Given the description of an element on the screen output the (x, y) to click on. 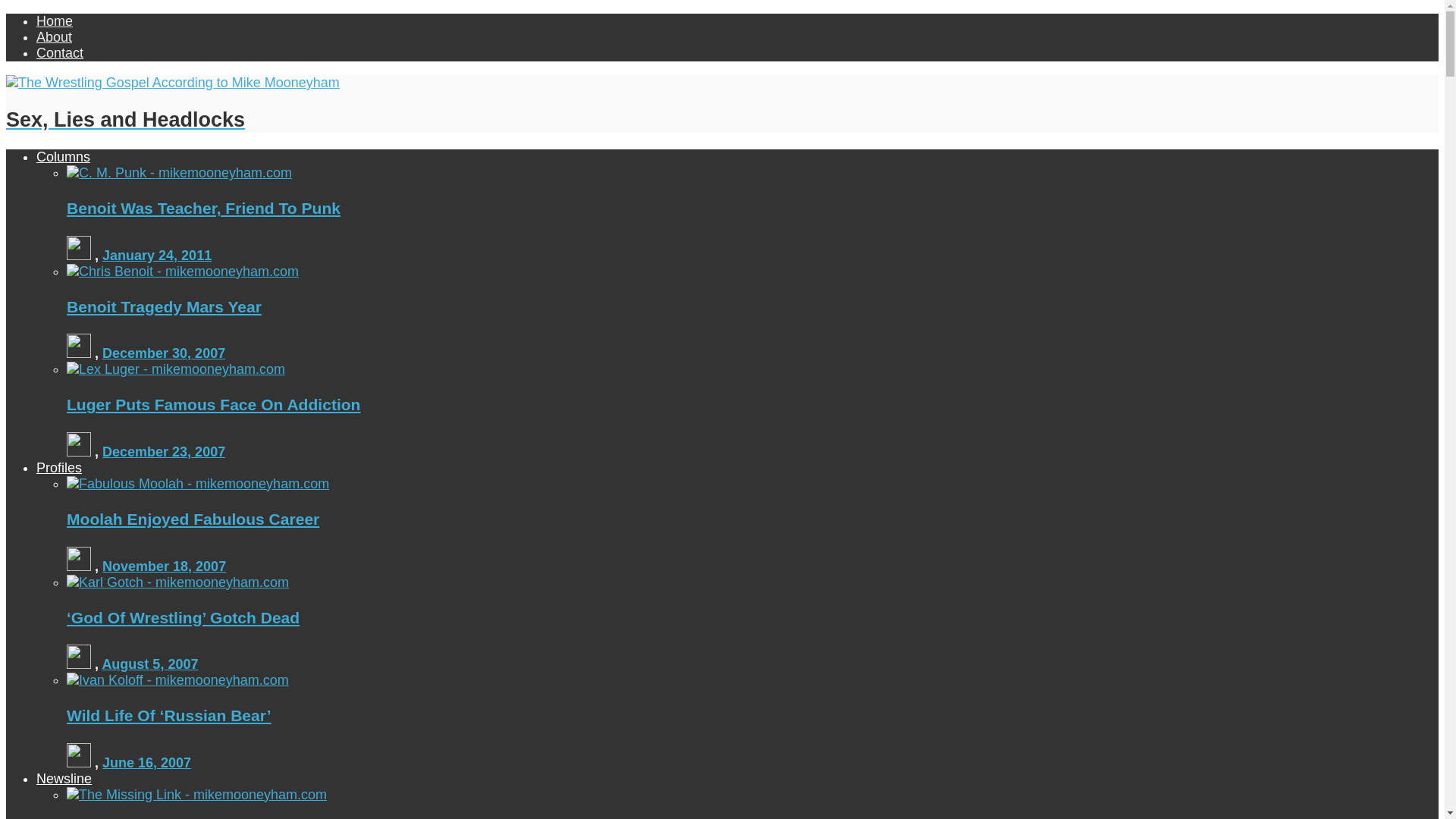
Profiles (58, 467)
Permalink to Luger Puts Famous Face On Addiction (212, 404)
Permalink to Benoit Was Teacher, Friend To Punk (203, 208)
Newsline (63, 778)
Permalink to Benoit Was Teacher, Friend To Punk (156, 255)
December 30, 2007 (163, 353)
Luger Puts Famous Face On Addiction (212, 404)
January 24, 2011 (156, 255)
Permalink to Benoit Tragedy Mars Year (163, 353)
Permalink to Luger Puts Famous Face On Addiction (175, 368)
Benoit Was Teacher, Friend To Punk (203, 208)
Contact (59, 52)
November 18, 2007 (163, 566)
August 5, 2007 (149, 663)
Moolah Enjoyed Fabulous Career (192, 518)
